Given the description of an element on the screen output the (x, y) to click on. 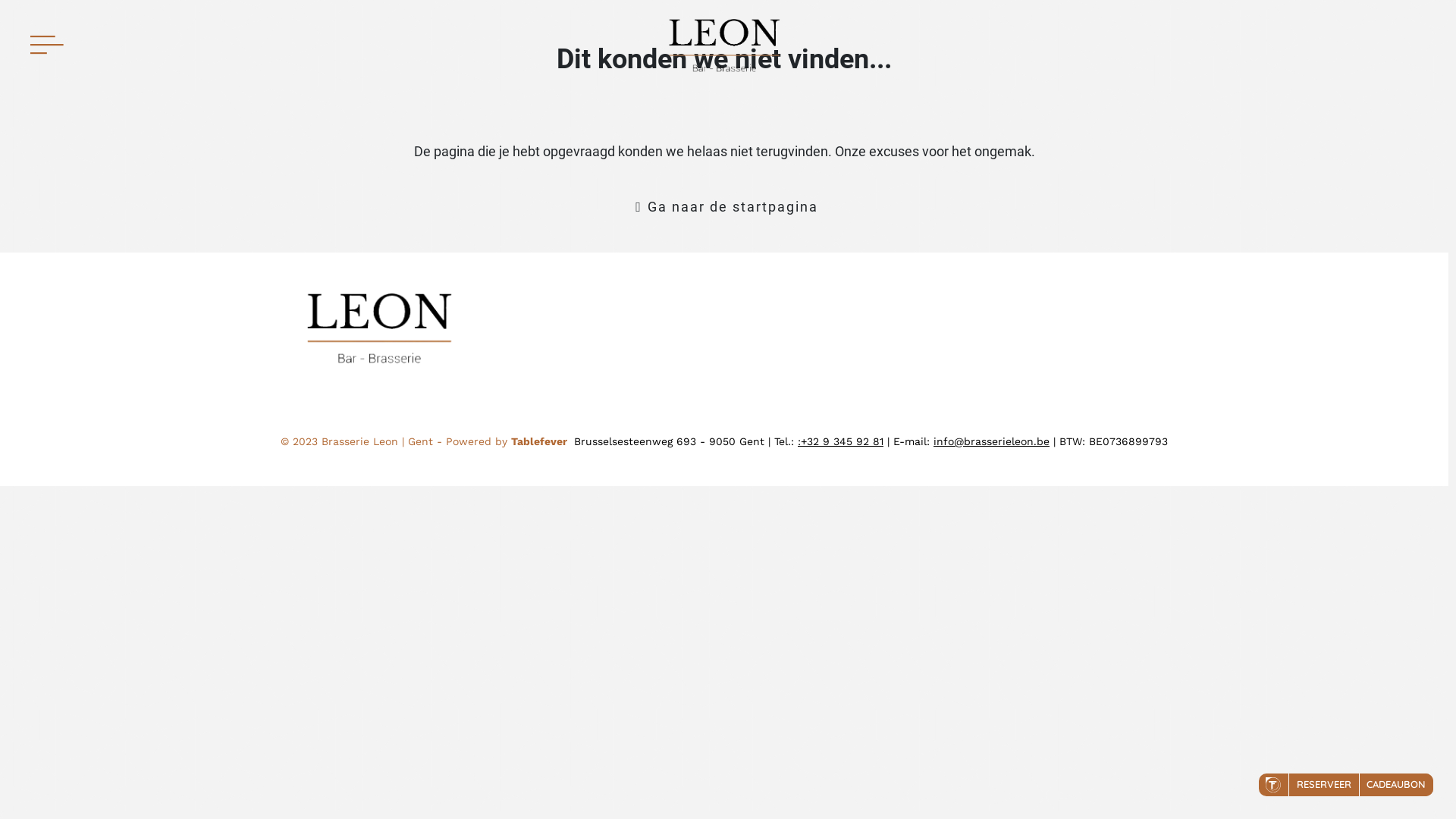
Ga naar de startpagina Element type: text (724, 206)
info@brasserieleon.be Element type: text (991, 441)
:+32 9 345 92 81 Element type: text (840, 441)
